Given the description of an element on the screen output the (x, y) to click on. 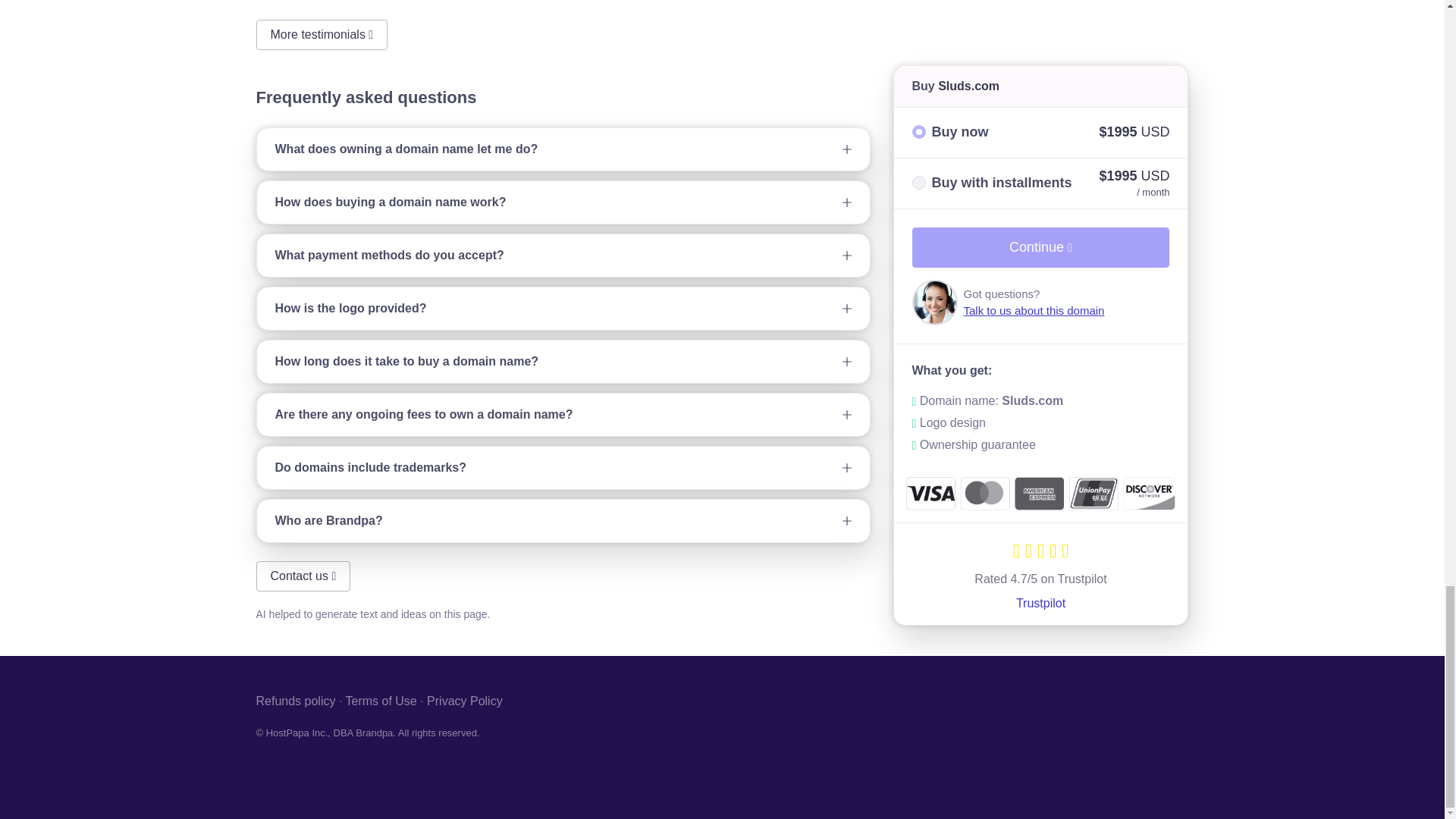
Are there any ongoing fees to own a domain name? (562, 414)
What does owning a domain name let me do? (562, 148)
Contact us (303, 576)
Who are Brandpa? (562, 520)
Refunds policy (296, 700)
How is the logo provided? (562, 308)
Do domains include trademarks? (562, 467)
How long does it take to buy a domain name? (562, 361)
What payment methods do you accept? (562, 255)
More testimonials (322, 34)
